Given the description of an element on the screen output the (x, y) to click on. 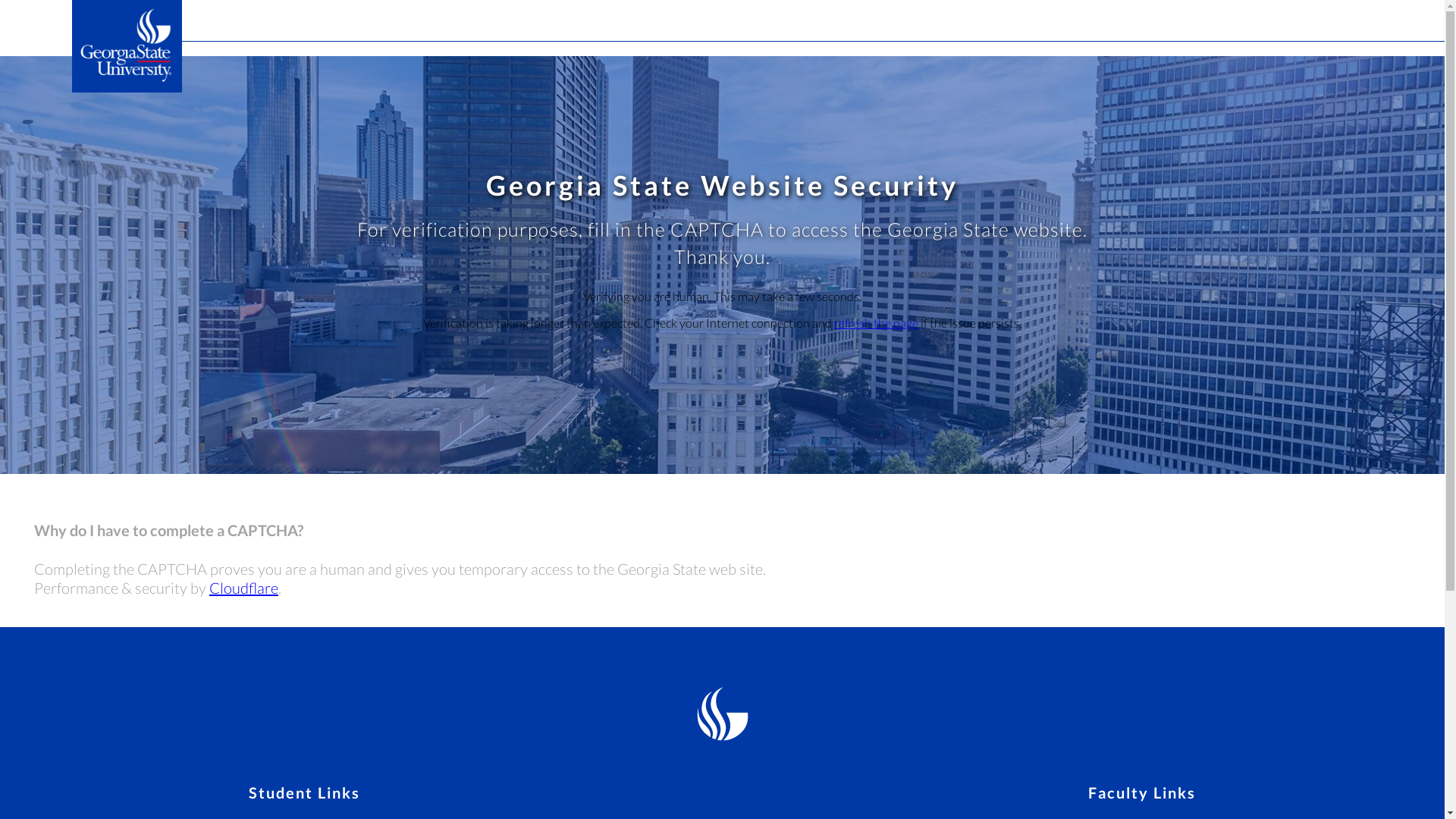
refresh the page (876, 322)
Cloudflare (243, 587)
Student Email (294, 817)
